Given the description of an element on the screen output the (x, y) to click on. 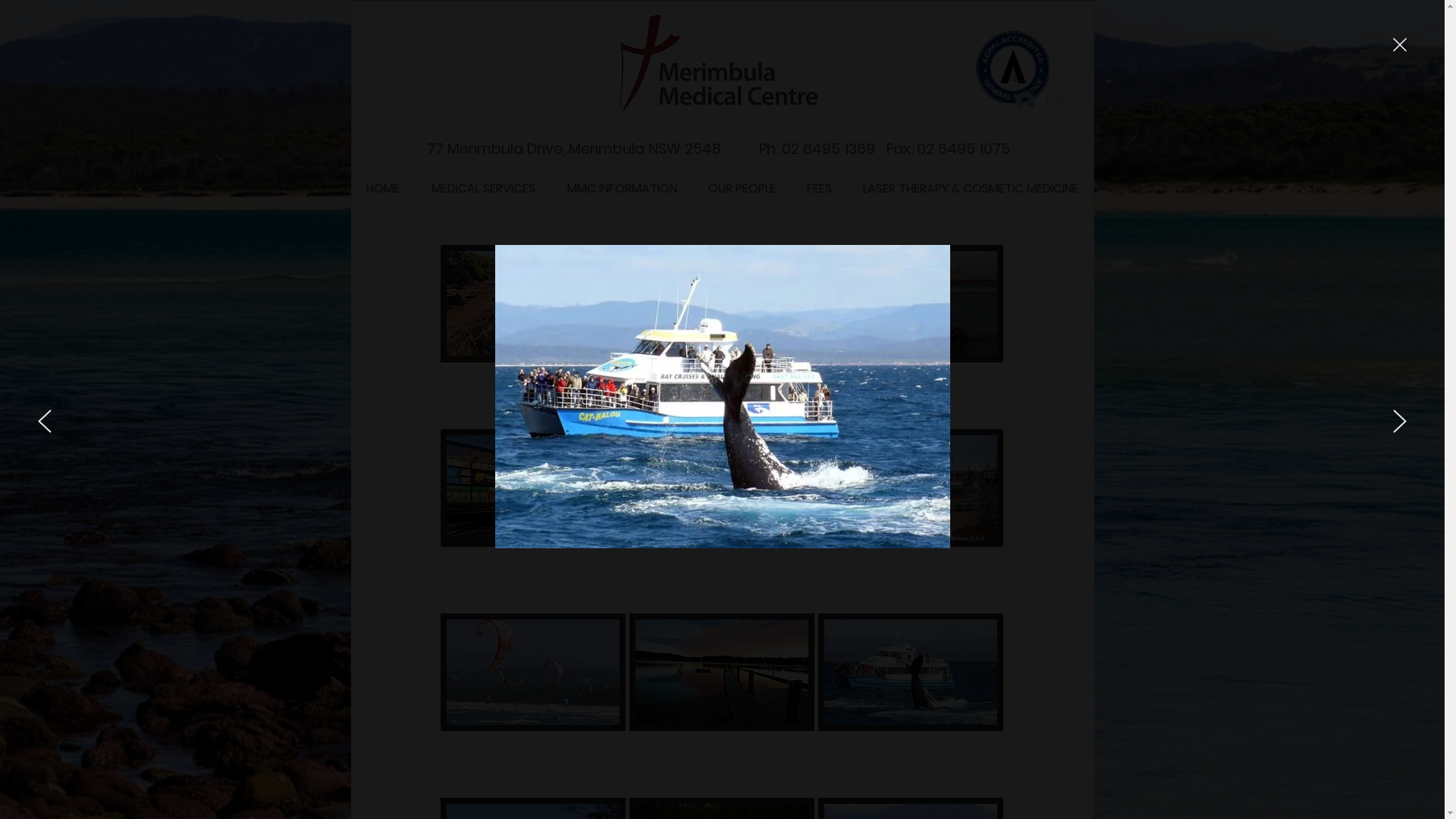
OUR PEOPLE Element type: text (740, 188)
FEES Element type: text (818, 188)
MEDICAL SERVICES Element type: text (483, 188)
MMC INFORMATION Element type: text (620, 188)
HOME Element type: text (382, 188)
Log In Element type: text (1044, 100)
